Given the description of an element on the screen output the (x, y) to click on. 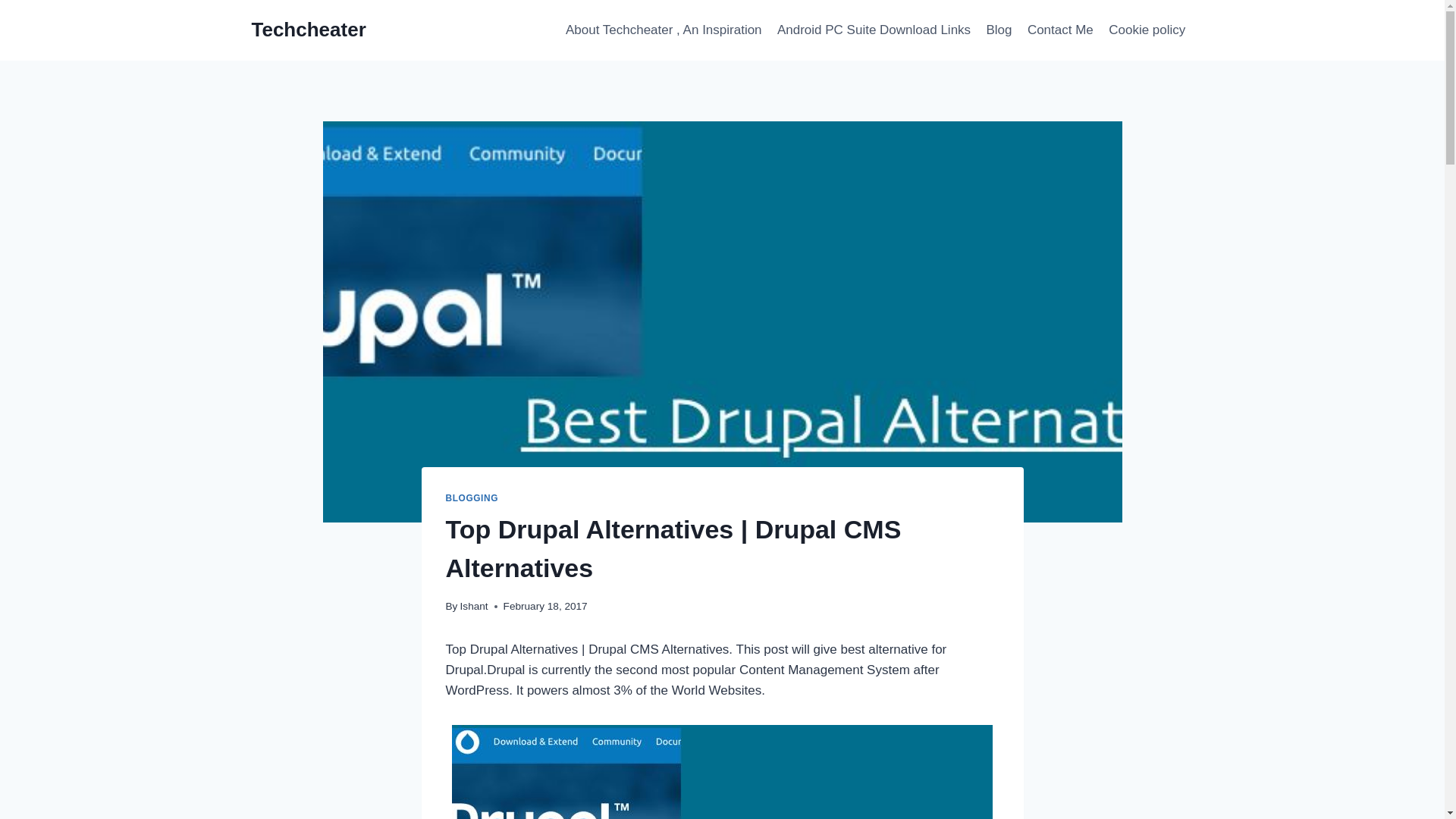
Cookie policy (1146, 30)
Contact Me (1060, 30)
Android PC Suite Download Links (874, 30)
Ishant (473, 605)
Blog (998, 30)
Techcheater (308, 29)
About Techcheater , An Inspiration (663, 30)
BLOGGING (472, 498)
